Given the description of an element on the screen output the (x, y) to click on. 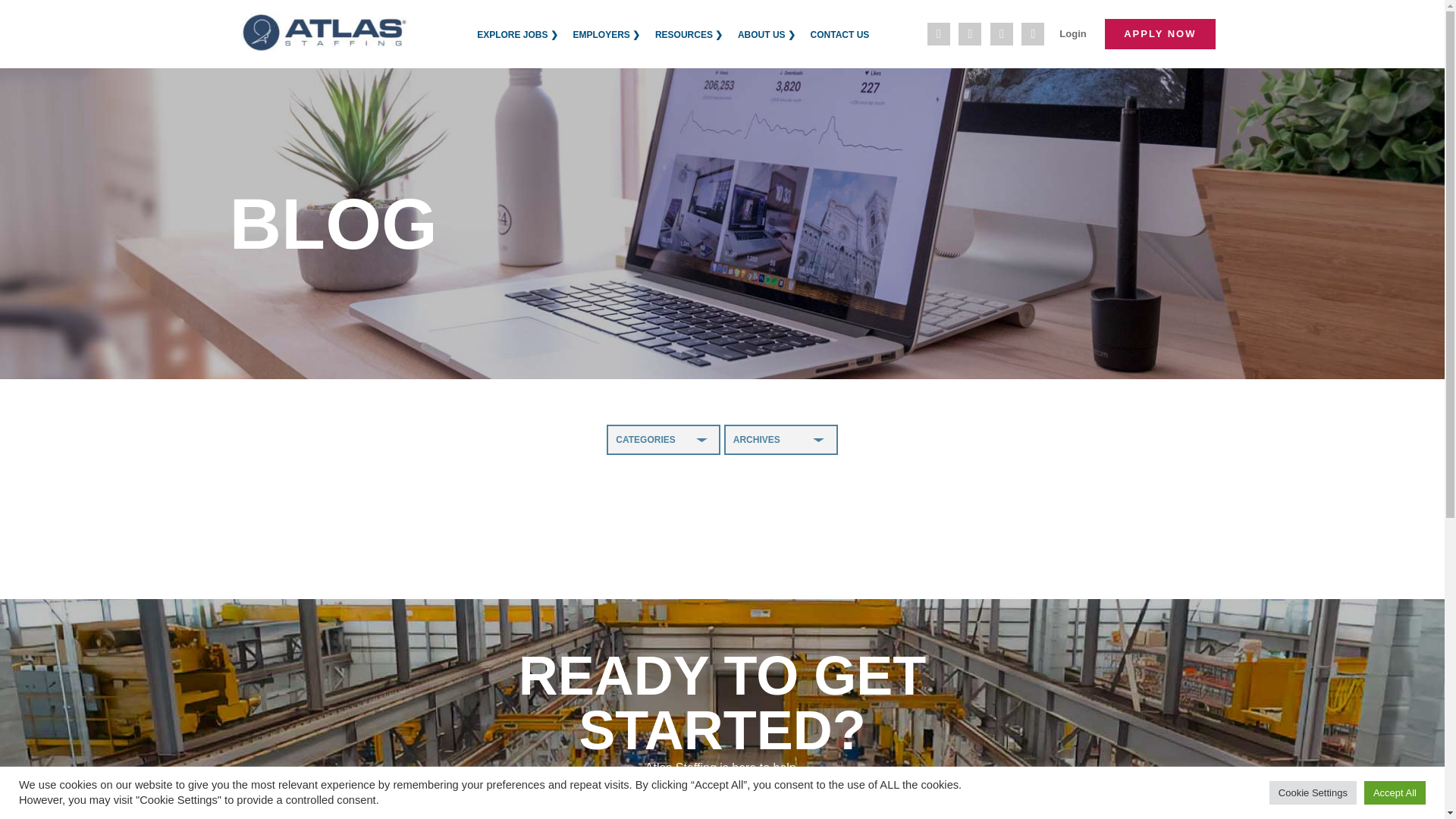
EXPLORE JOBS (517, 35)
Login (1072, 33)
ABOUT US (766, 35)
RESOURCES (688, 35)
APPLY NOW (1159, 33)
CONTACT US (839, 35)
EMPLOYERS (606, 35)
